Given the description of an element on the screen output the (x, y) to click on. 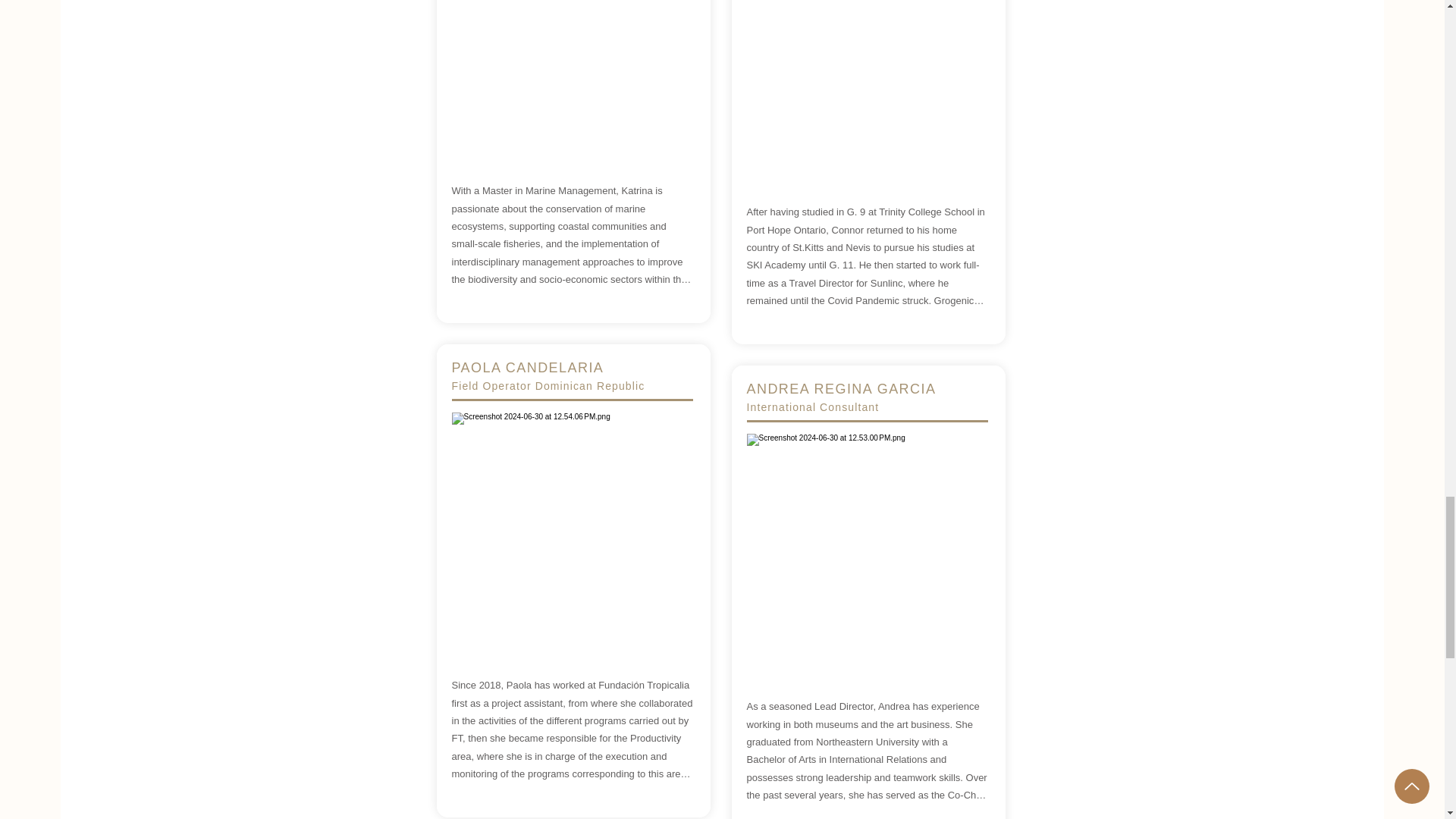
Connor Greaux-Taylor (866, 90)
Andrea Garcia-Mendez (866, 554)
Paola Candelaria (572, 532)
